Given the description of an element on the screen output the (x, y) to click on. 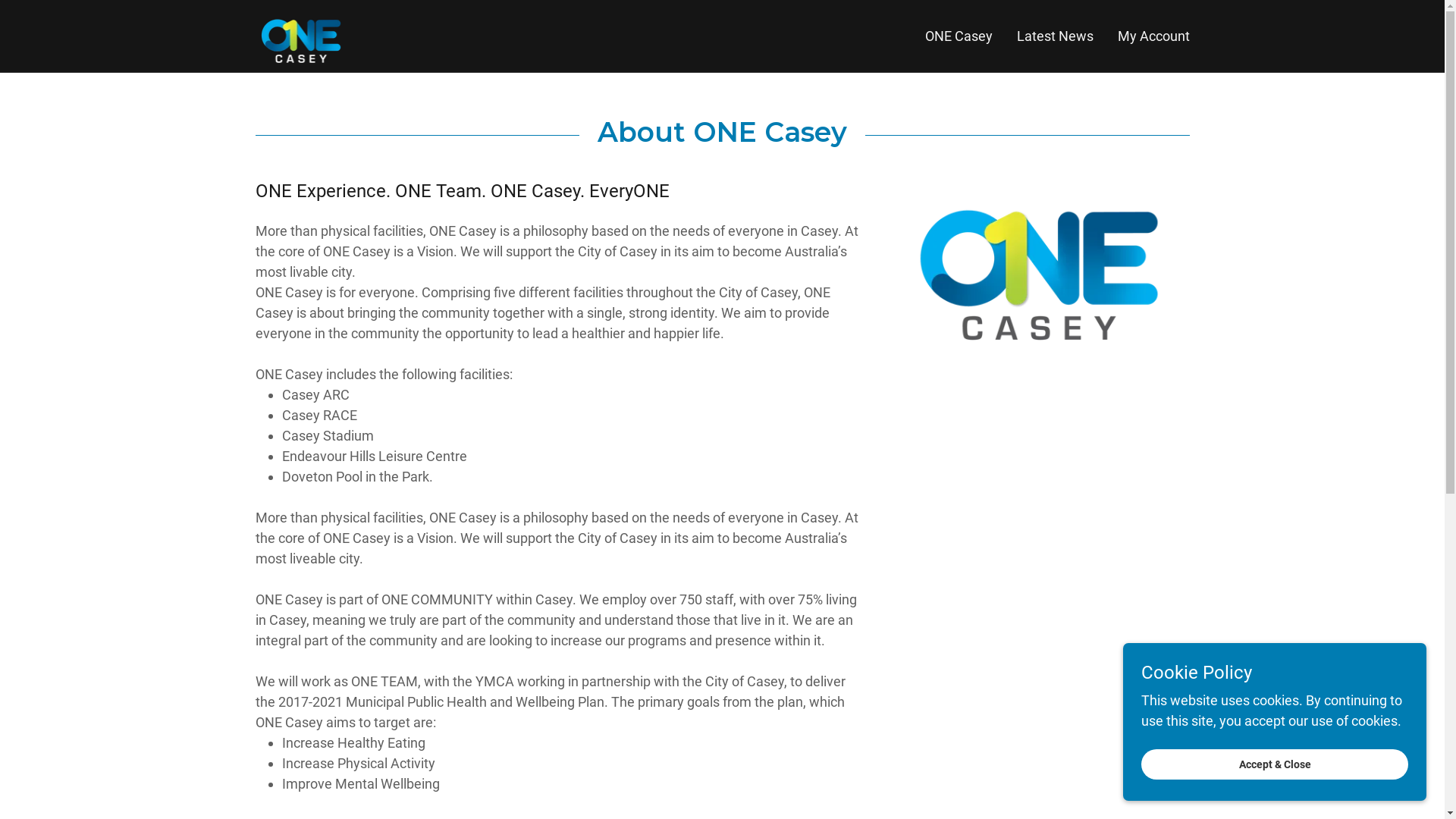
My Account Element type: text (1153, 36)
Accept & Close Element type: text (1274, 764)
Latest News Element type: text (1054, 36)
ONE Casey Element type: hover (302, 34)
ONE Casey Element type: text (958, 36)
